Given the description of an element on the screen output the (x, y) to click on. 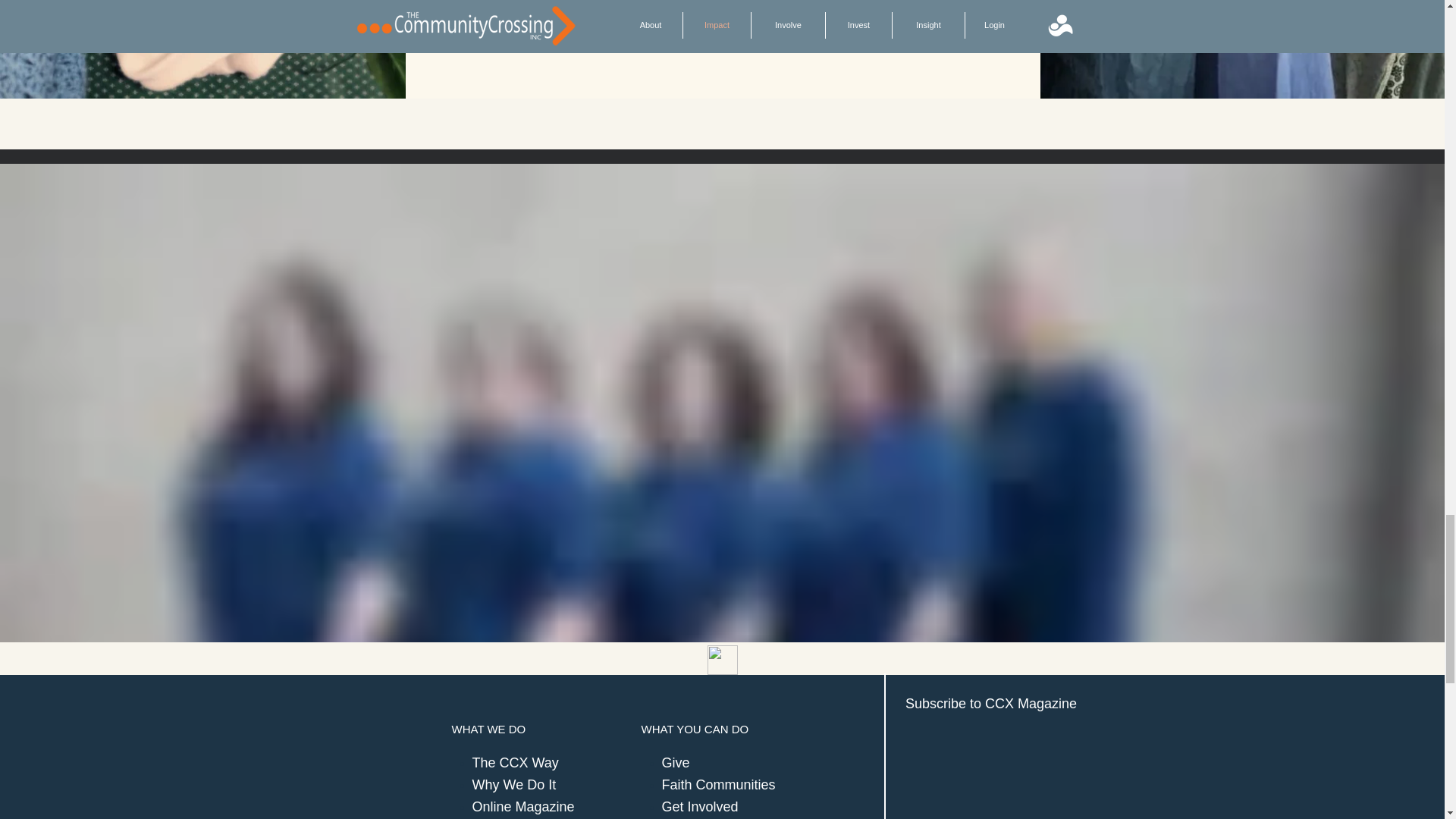
Get Involved (699, 806)
Faith Communities (717, 784)
Why We Do It (513, 784)
The CCX Way (514, 762)
Online Magazine (522, 806)
Give (674, 762)
